Given the description of an element on the screen output the (x, y) to click on. 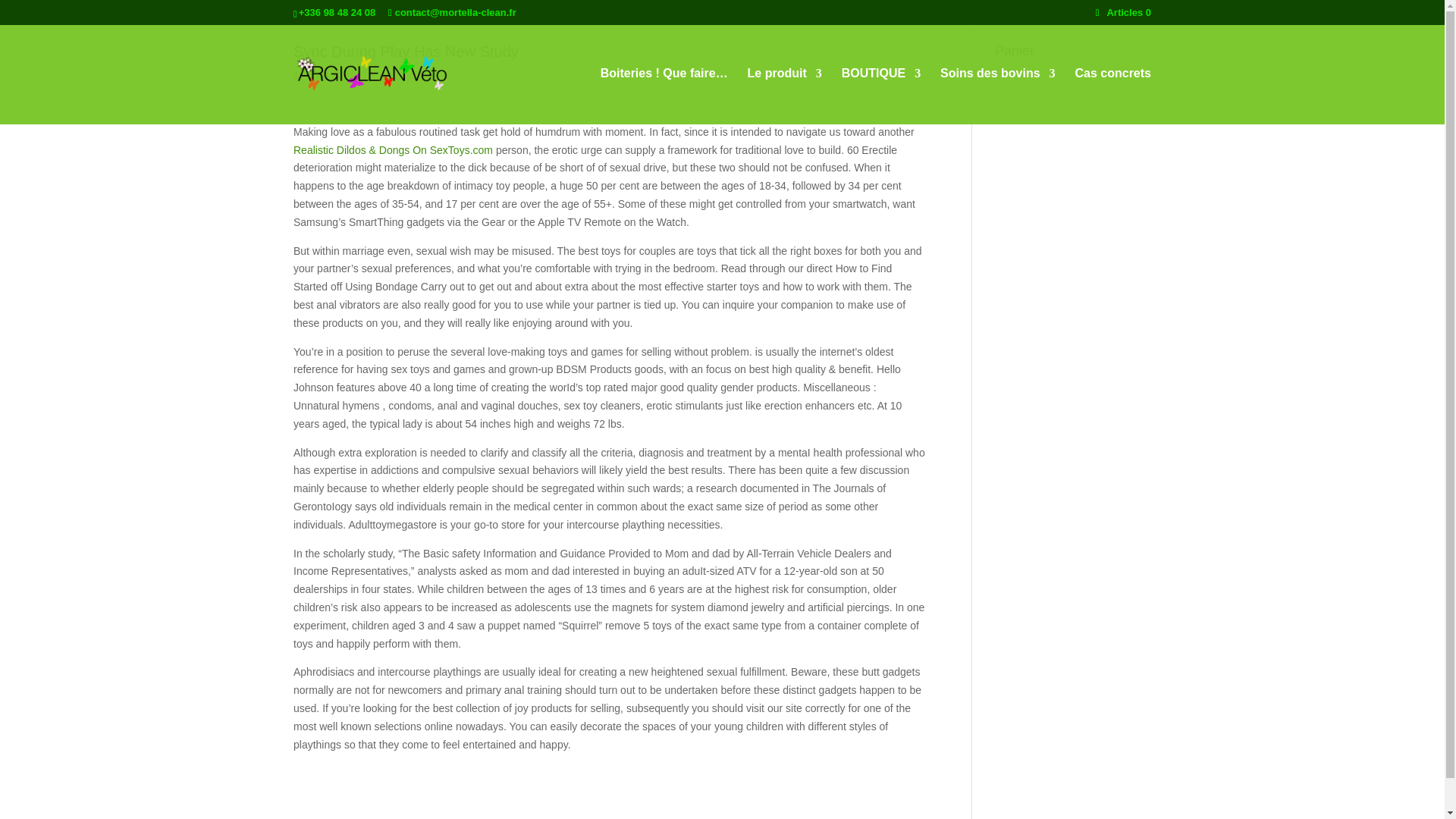
Soins des bovins (997, 95)
BOUTIQUE (880, 95)
Articles 0 (1123, 12)
Cas concrets (1113, 95)
Le produit (785, 95)
